Given the description of an element on the screen output the (x, y) to click on. 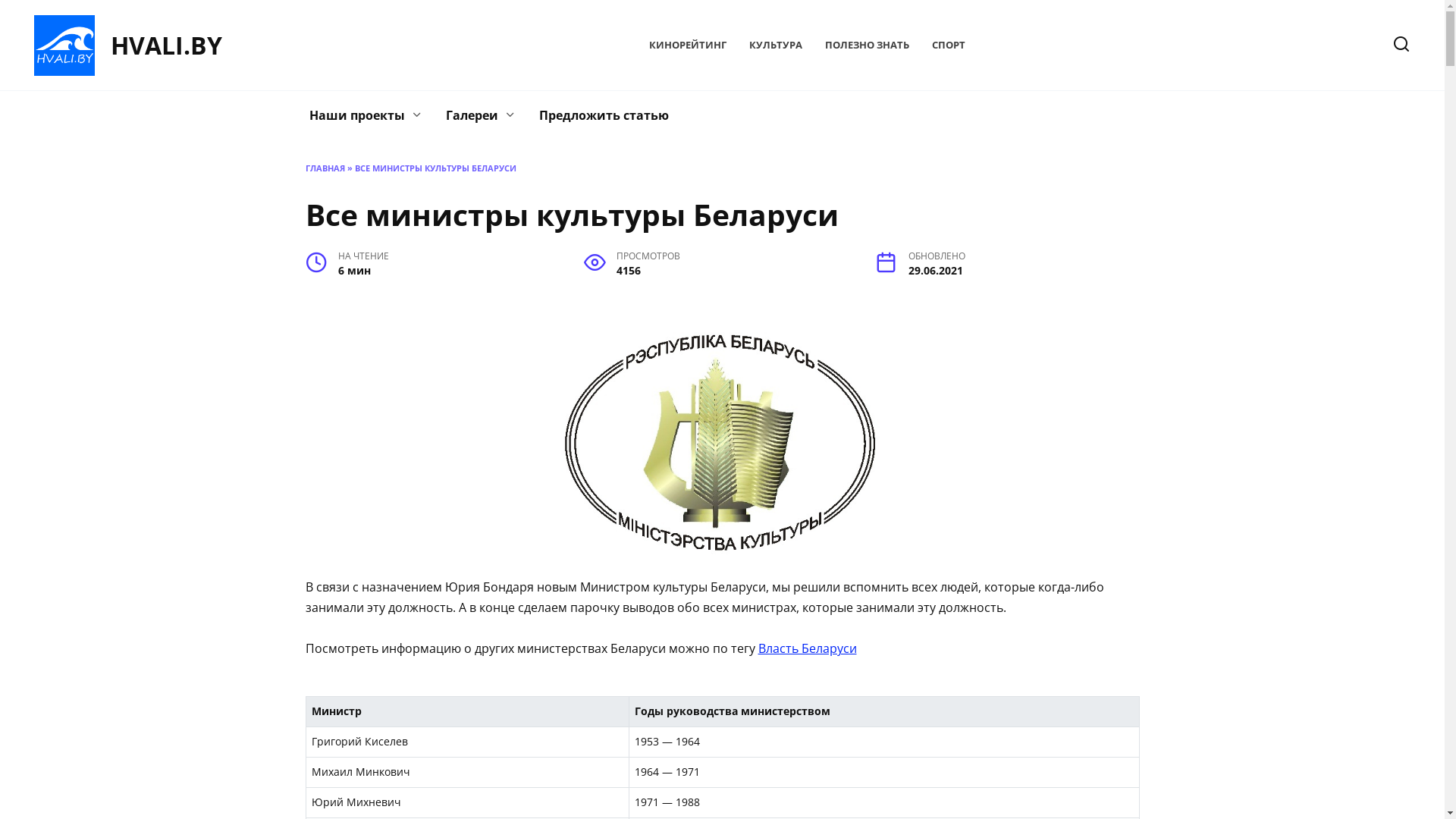
HVALI.BY Element type: text (166, 44)
